Given the description of an element on the screen output the (x, y) to click on. 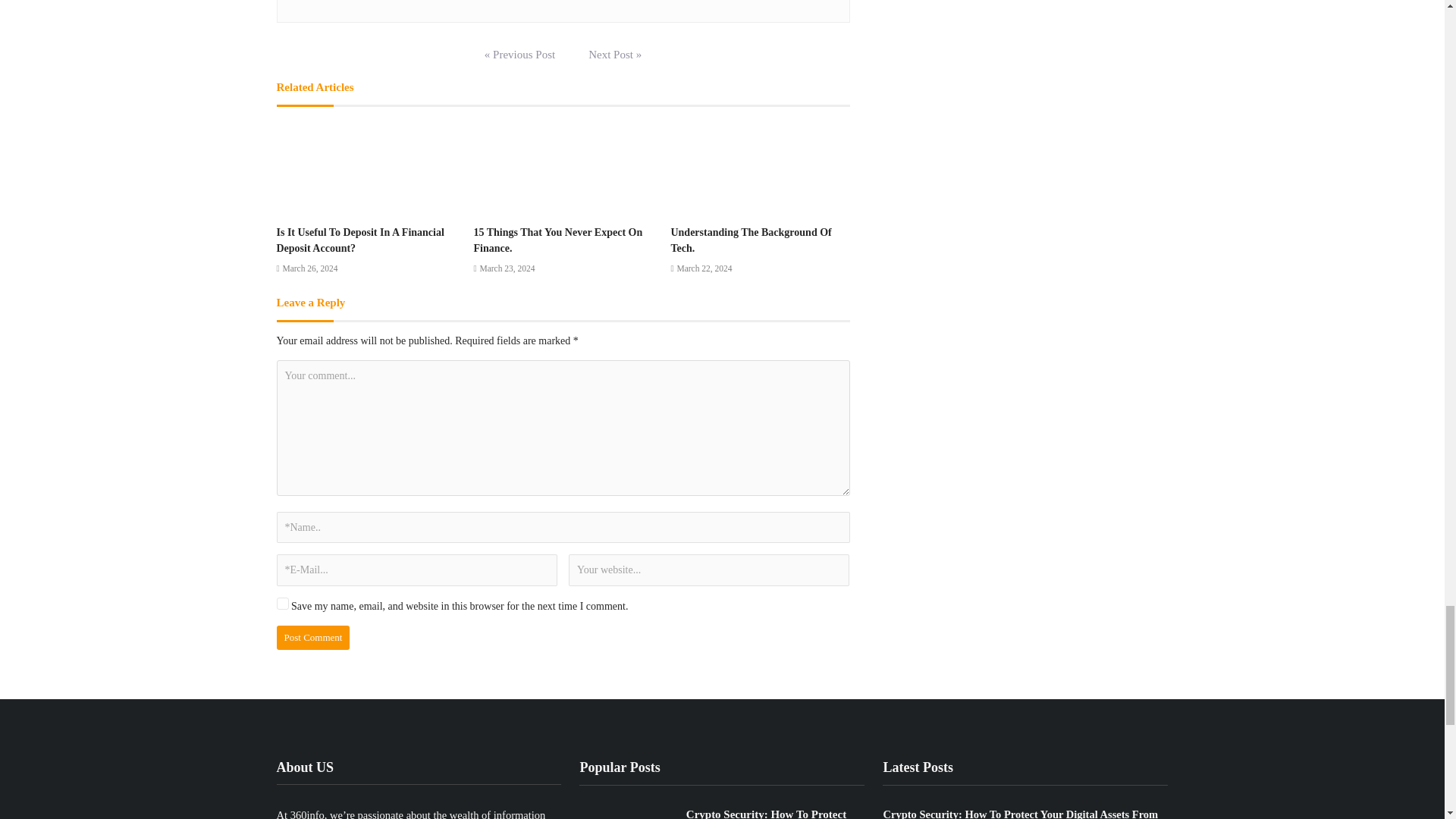
yes (282, 603)
Post Comment (312, 637)
